Given the description of an element on the screen output the (x, y) to click on. 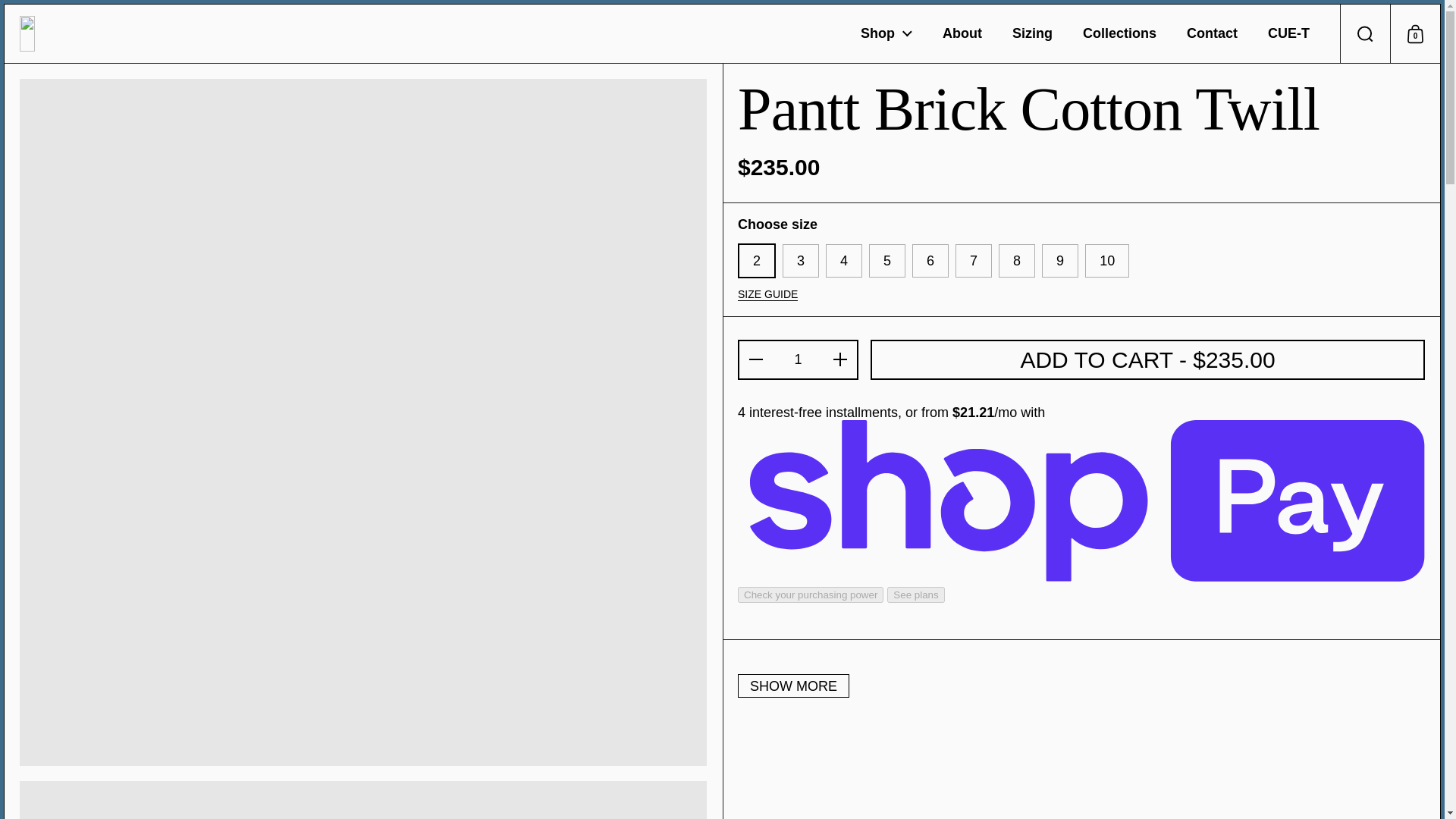
DinosaurHampton (75, 33)
1 (798, 359)
Contact (1212, 34)
Open search (1364, 33)
CUE-T (1288, 34)
About (962, 34)
SIZE GUIDE (767, 295)
Search (1364, 33)
Shopping Cart (1414, 33)
Shop (1414, 33)
Collections (886, 34)
Sizing (1119, 34)
